Given the description of an element on the screen output the (x, y) to click on. 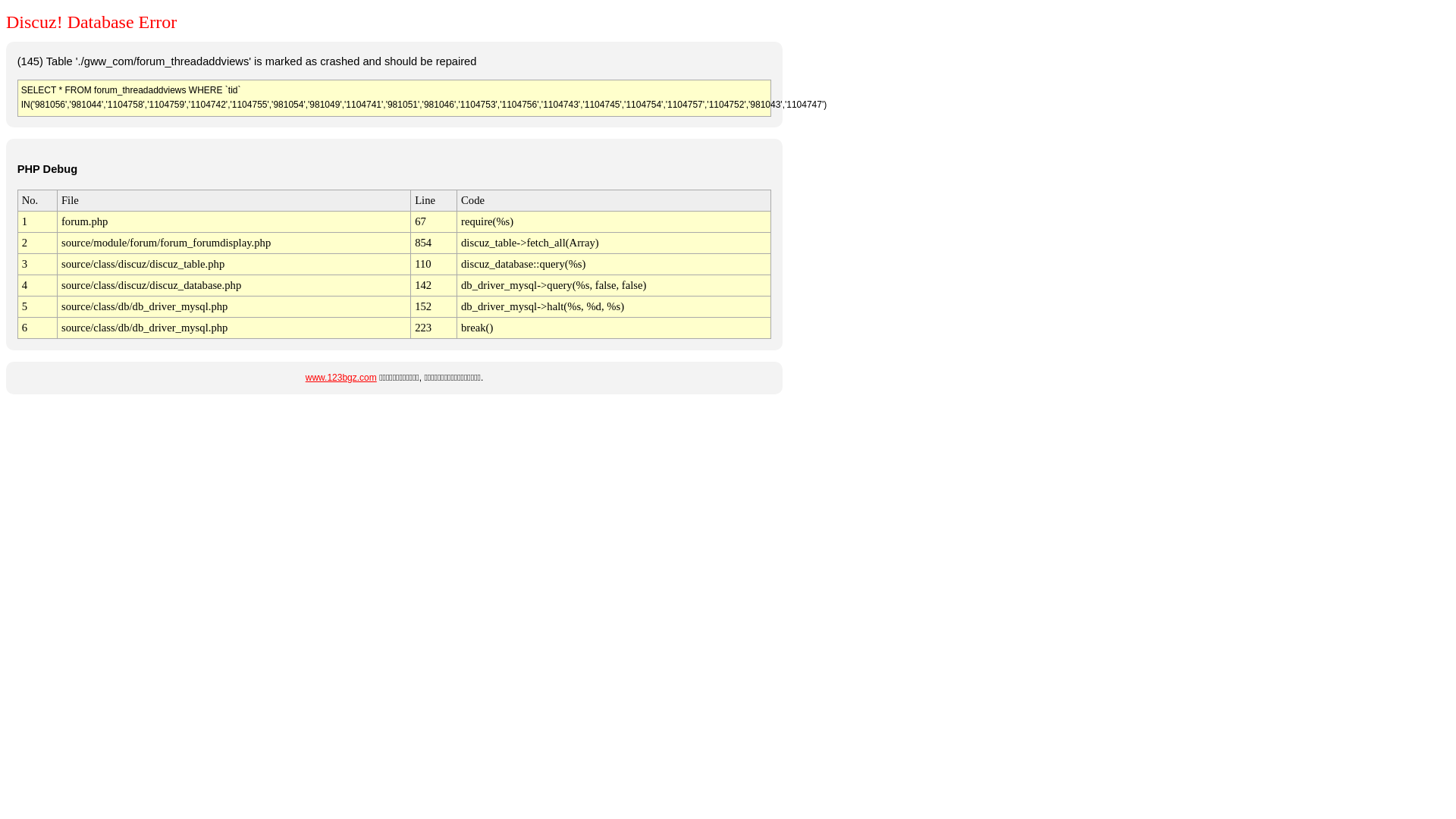
www.123bgz.com Element type: text (340, 377)
